Given the description of an element on the screen output the (x, y) to click on. 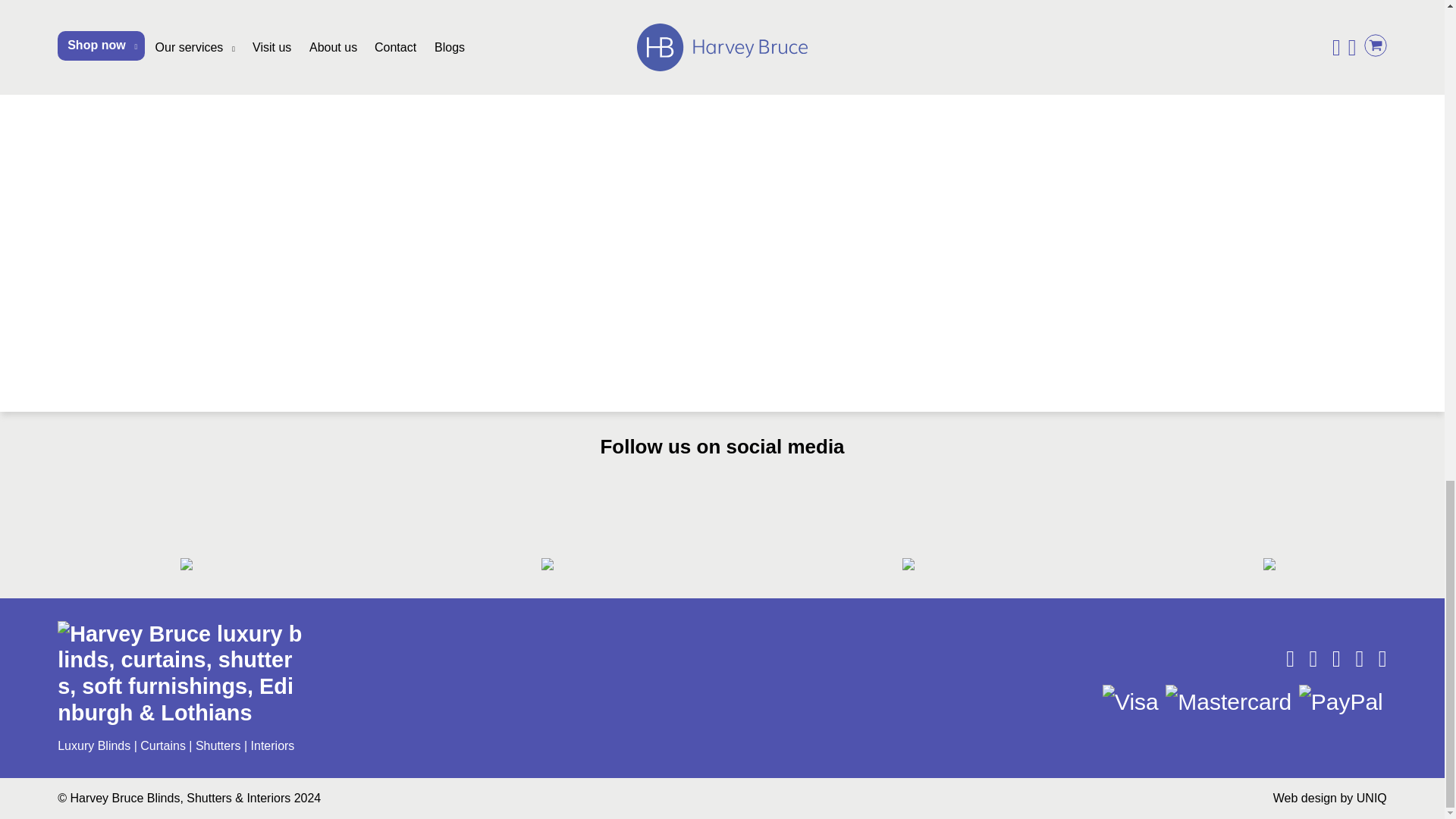
PayPal (1340, 701)
Mastercard (1228, 701)
Visa (1130, 701)
